Given the description of an element on the screen output the (x, y) to click on. 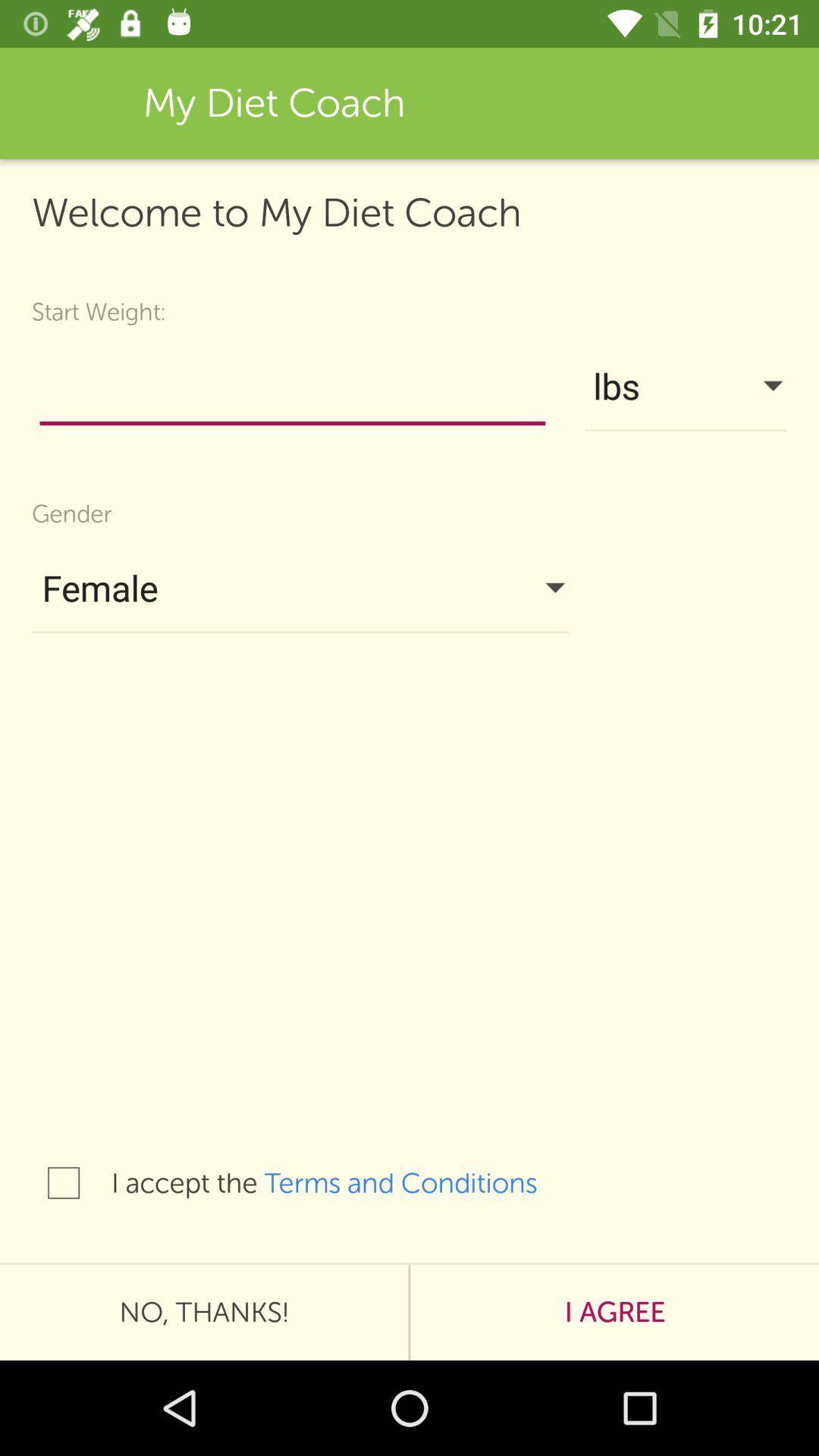
press the item above the gender (292, 389)
